Given the description of an element on the screen output the (x, y) to click on. 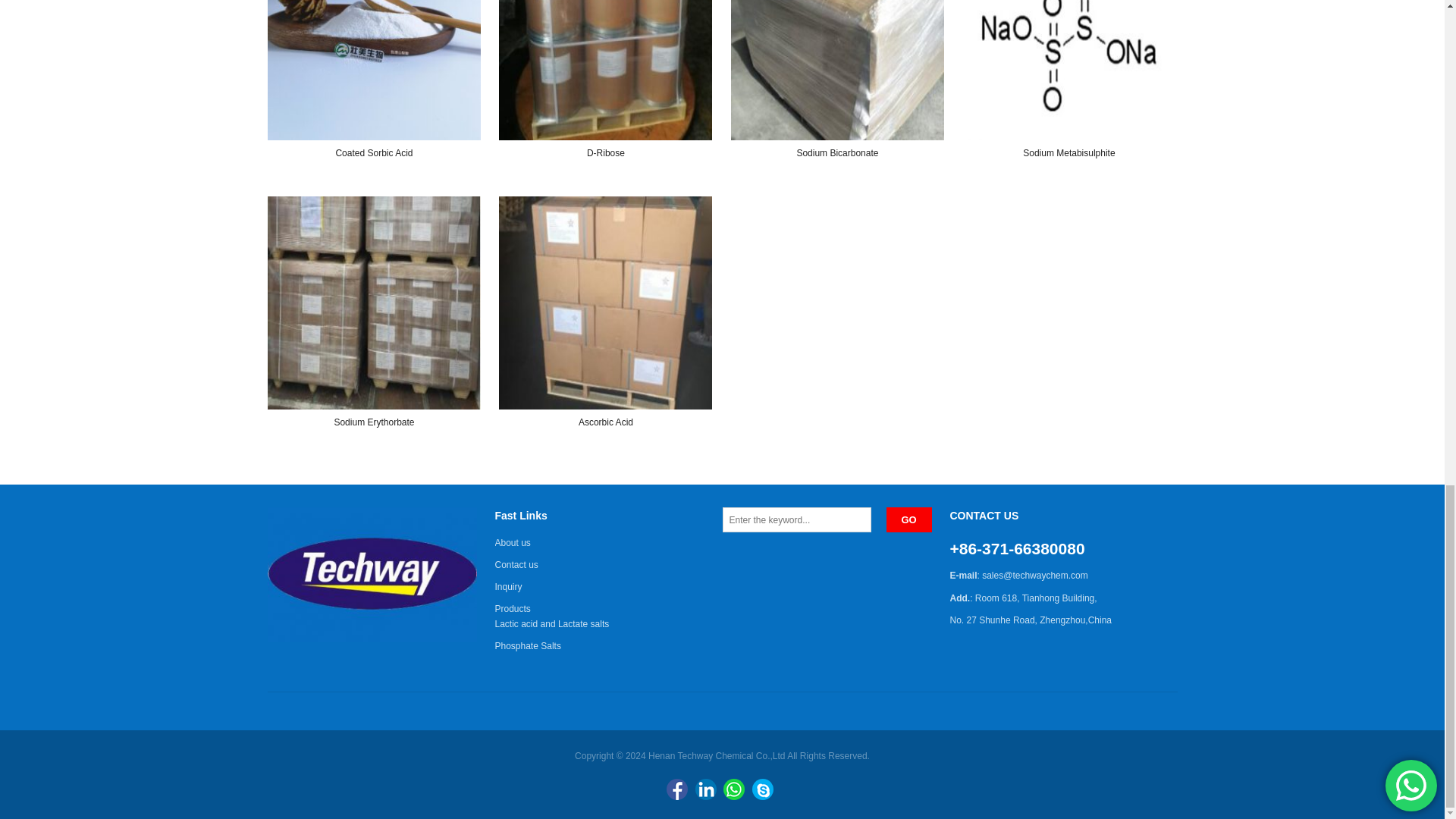
GO (908, 519)
D-Ribose (605, 70)
Sodium Metabisulphite (1068, 70)
Facebook (676, 789)
Sodium Bicarbonate (836, 70)
Skype (762, 789)
GO (908, 519)
Search (908, 519)
Coated Sorbic Acid (373, 70)
WhatsApp (733, 789)
Ascorbic Acid (605, 302)
LinkedIn (705, 789)
Sodium Erythorbate (373, 302)
